Given the description of an element on the screen output the (x, y) to click on. 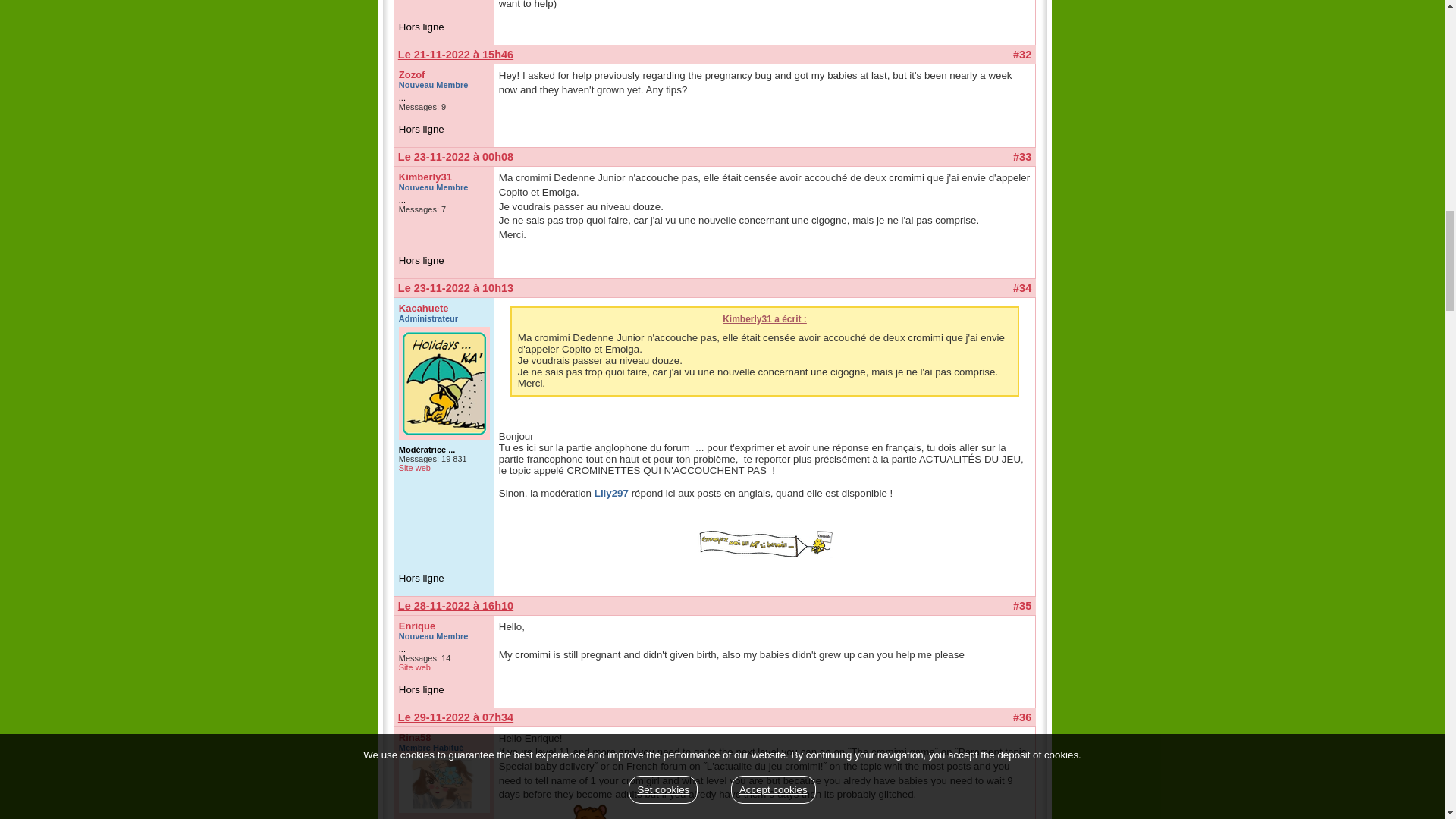
Site web (414, 467)
Zozof (411, 74)
Kimberly31 (424, 176)
Kacahuete (423, 307)
